Given the description of an element on the screen output the (x, y) to click on. 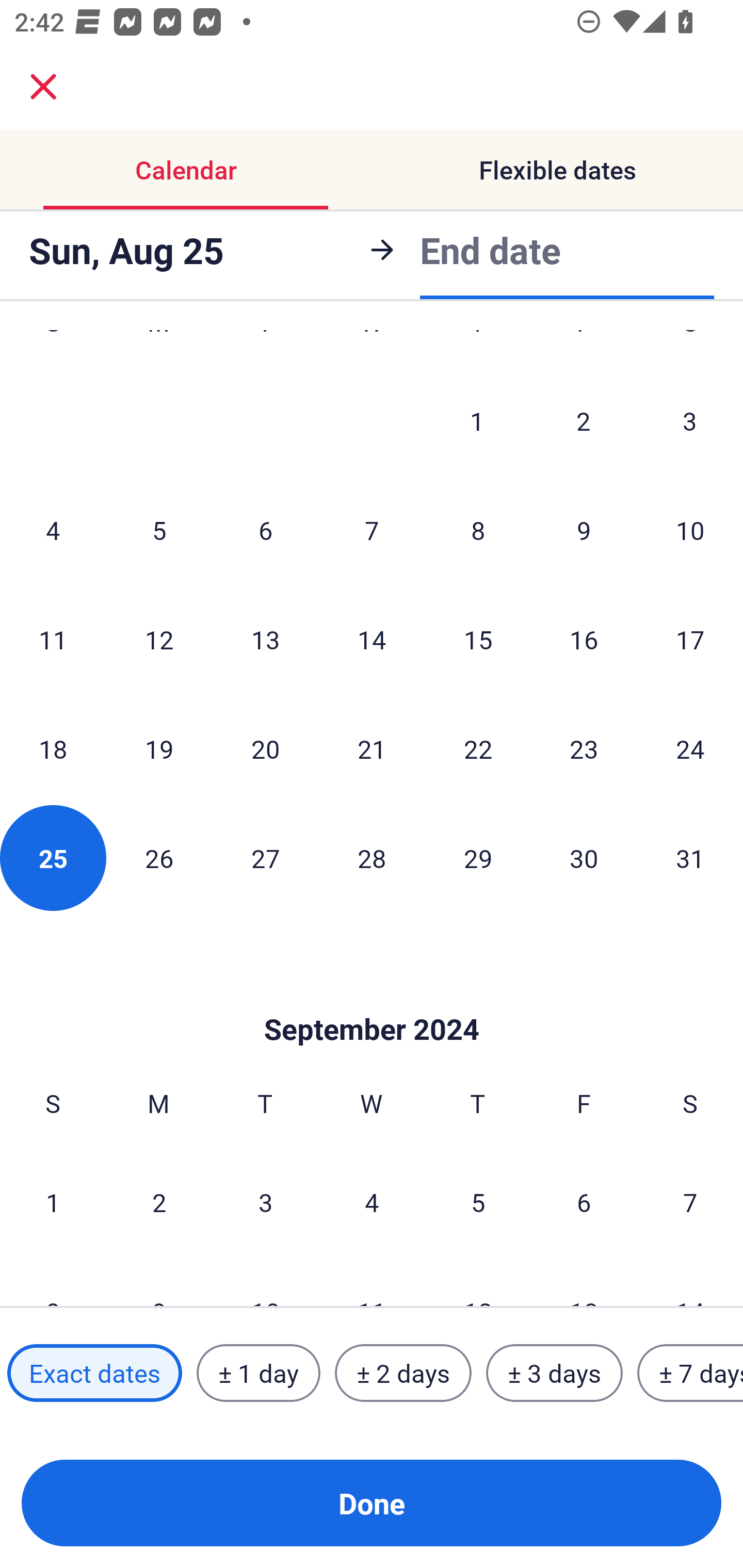
close. (43, 86)
Flexible dates (557, 170)
End date (489, 249)
1 Thursday, August 1, 2024 (477, 420)
2 Friday, August 2, 2024 (583, 420)
3 Saturday, August 3, 2024 (689, 420)
4 Sunday, August 4, 2024 (53, 529)
5 Monday, August 5, 2024 (159, 529)
6 Tuesday, August 6, 2024 (265, 529)
7 Wednesday, August 7, 2024 (371, 529)
8 Thursday, August 8, 2024 (477, 529)
9 Friday, August 9, 2024 (584, 529)
10 Saturday, August 10, 2024 (690, 529)
11 Sunday, August 11, 2024 (53, 638)
12 Monday, August 12, 2024 (159, 638)
13 Tuesday, August 13, 2024 (265, 638)
14 Wednesday, August 14, 2024 (371, 638)
15 Thursday, August 15, 2024 (477, 638)
16 Friday, August 16, 2024 (584, 638)
17 Saturday, August 17, 2024 (690, 638)
18 Sunday, August 18, 2024 (53, 748)
19 Monday, August 19, 2024 (159, 748)
20 Tuesday, August 20, 2024 (265, 748)
21 Wednesday, August 21, 2024 (371, 748)
22 Thursday, August 22, 2024 (477, 748)
23 Friday, August 23, 2024 (584, 748)
24 Saturday, August 24, 2024 (690, 748)
26 Monday, August 26, 2024 (159, 857)
27 Tuesday, August 27, 2024 (265, 857)
28 Wednesday, August 28, 2024 (371, 857)
29 Thursday, August 29, 2024 (477, 857)
30 Friday, August 30, 2024 (584, 857)
31 Saturday, August 31, 2024 (690, 857)
Skip to Done (371, 997)
1 Sunday, September 1, 2024 (53, 1201)
2 Monday, September 2, 2024 (159, 1201)
3 Tuesday, September 3, 2024 (265, 1201)
4 Wednesday, September 4, 2024 (371, 1201)
5 Thursday, September 5, 2024 (477, 1201)
6 Friday, September 6, 2024 (584, 1201)
7 Saturday, September 7, 2024 (690, 1201)
Exact dates (94, 1372)
± 1 day (258, 1372)
± 2 days (403, 1372)
± 3 days (553, 1372)
± 7 days (690, 1372)
Done (371, 1502)
